Given the description of an element on the screen output the (x, y) to click on. 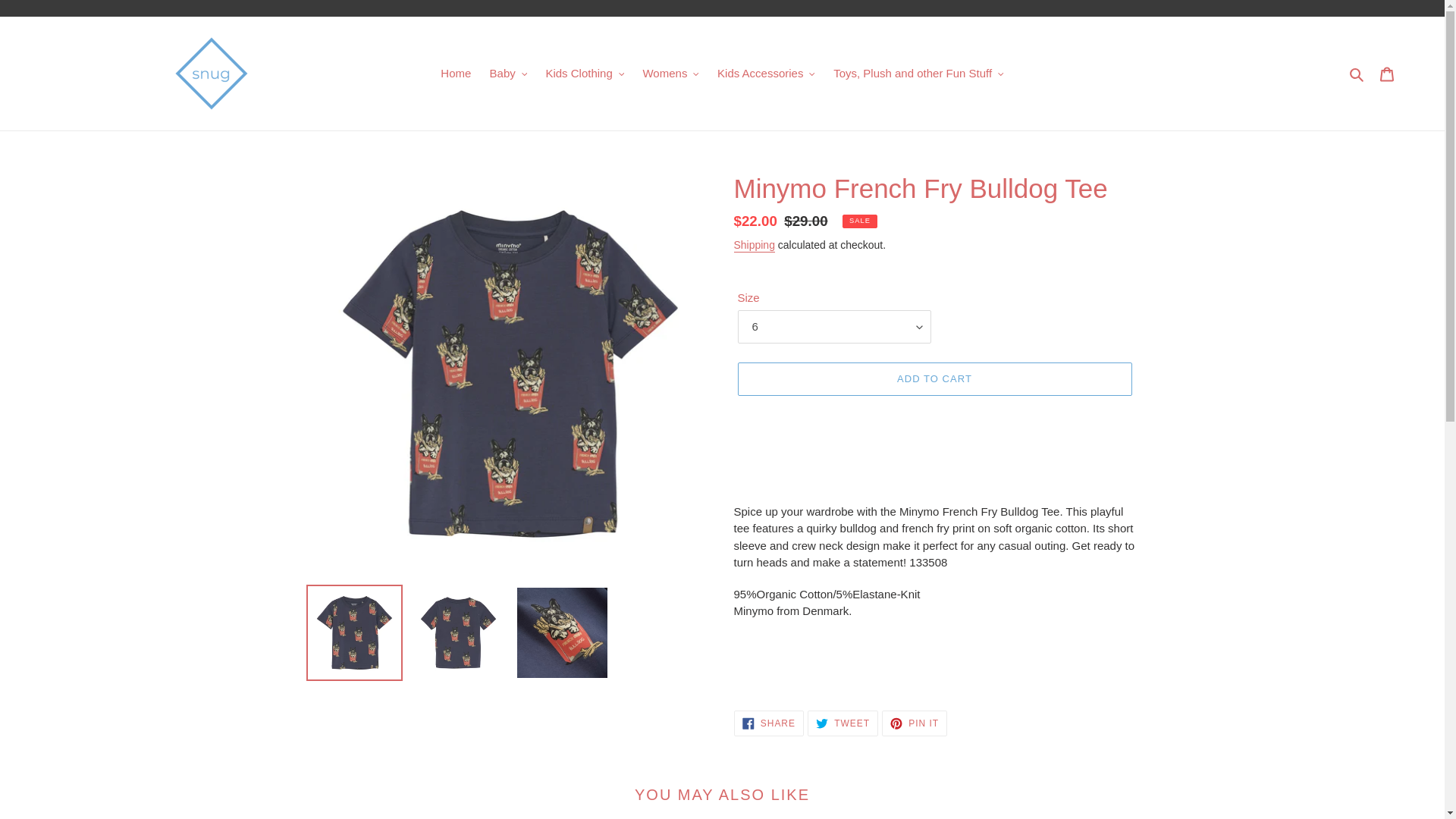
Home (455, 74)
Womens (670, 74)
Kids Clothing (584, 74)
Baby (508, 74)
